Given the description of an element on the screen output the (x, y) to click on. 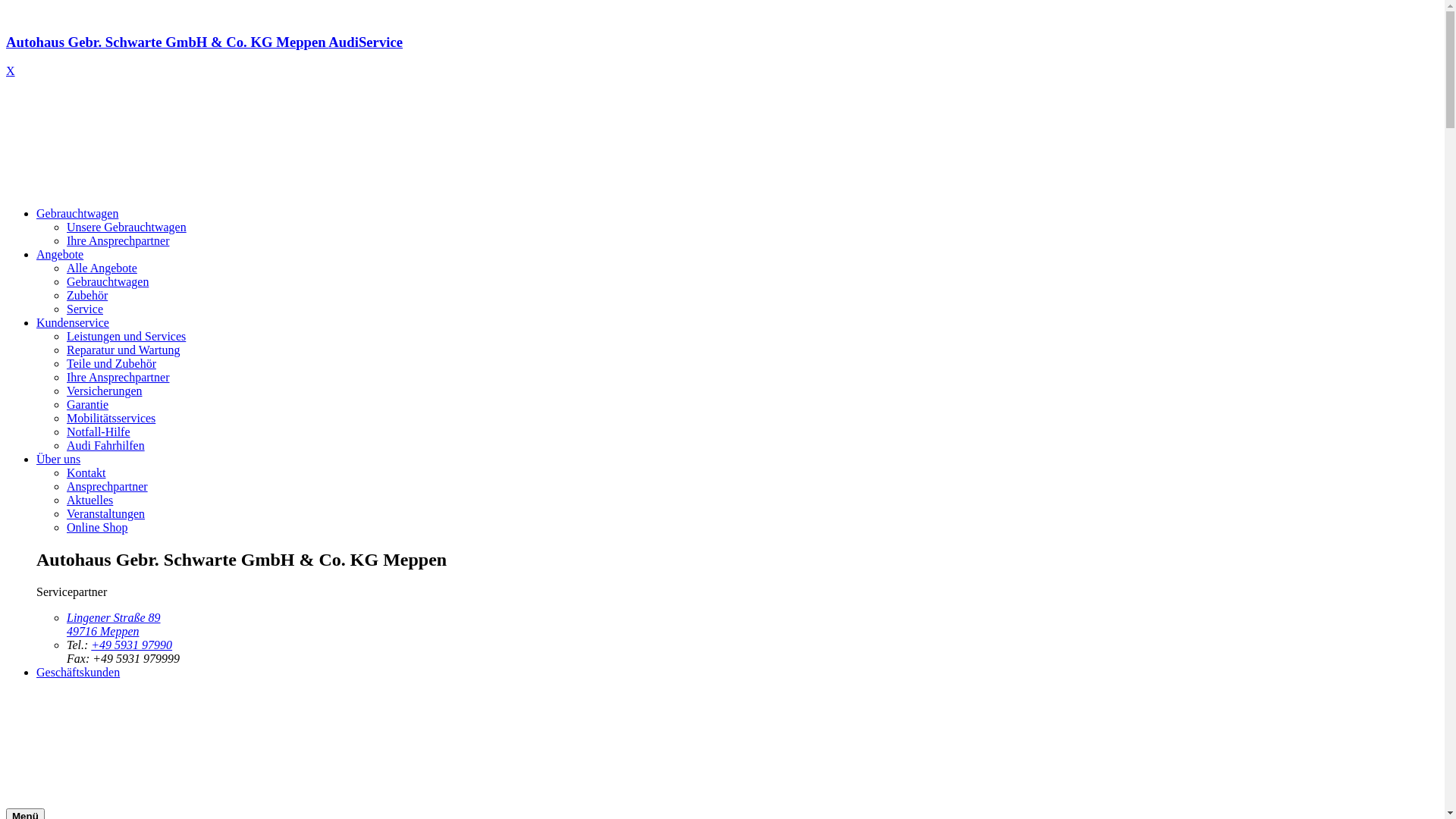
Gebrauchtwagen Element type: text (107, 281)
Aktuelles Element type: text (89, 499)
Autohaus Gebr. Schwarte GmbH & Co. KG Meppen AudiService Element type: text (722, 56)
Kontakt Element type: text (86, 472)
Garantie Element type: text (87, 404)
Reparatur und Wartung Element type: text (122, 349)
Alle Angebote Element type: text (101, 267)
Ihre Ansprechpartner Element type: text (117, 376)
Versicherungen Element type: text (104, 390)
Gebrauchtwagen Element type: text (77, 213)
Audi Fahrhilfen Element type: text (105, 445)
X Element type: text (10, 70)
Angebote Element type: text (59, 253)
Ansprechpartner Element type: text (106, 486)
Notfall-Hilfe Element type: text (98, 431)
Service Element type: text (84, 308)
Online Shop Element type: text (96, 526)
Ihre Ansprechpartner Element type: text (117, 240)
+49 5931 97990 Element type: text (131, 644)
Kundenservice Element type: text (72, 322)
Leistungen und Services Element type: text (125, 335)
Unsere Gebrauchtwagen Element type: text (126, 226)
Veranstaltungen Element type: text (105, 513)
